Given the description of an element on the screen output the (x, y) to click on. 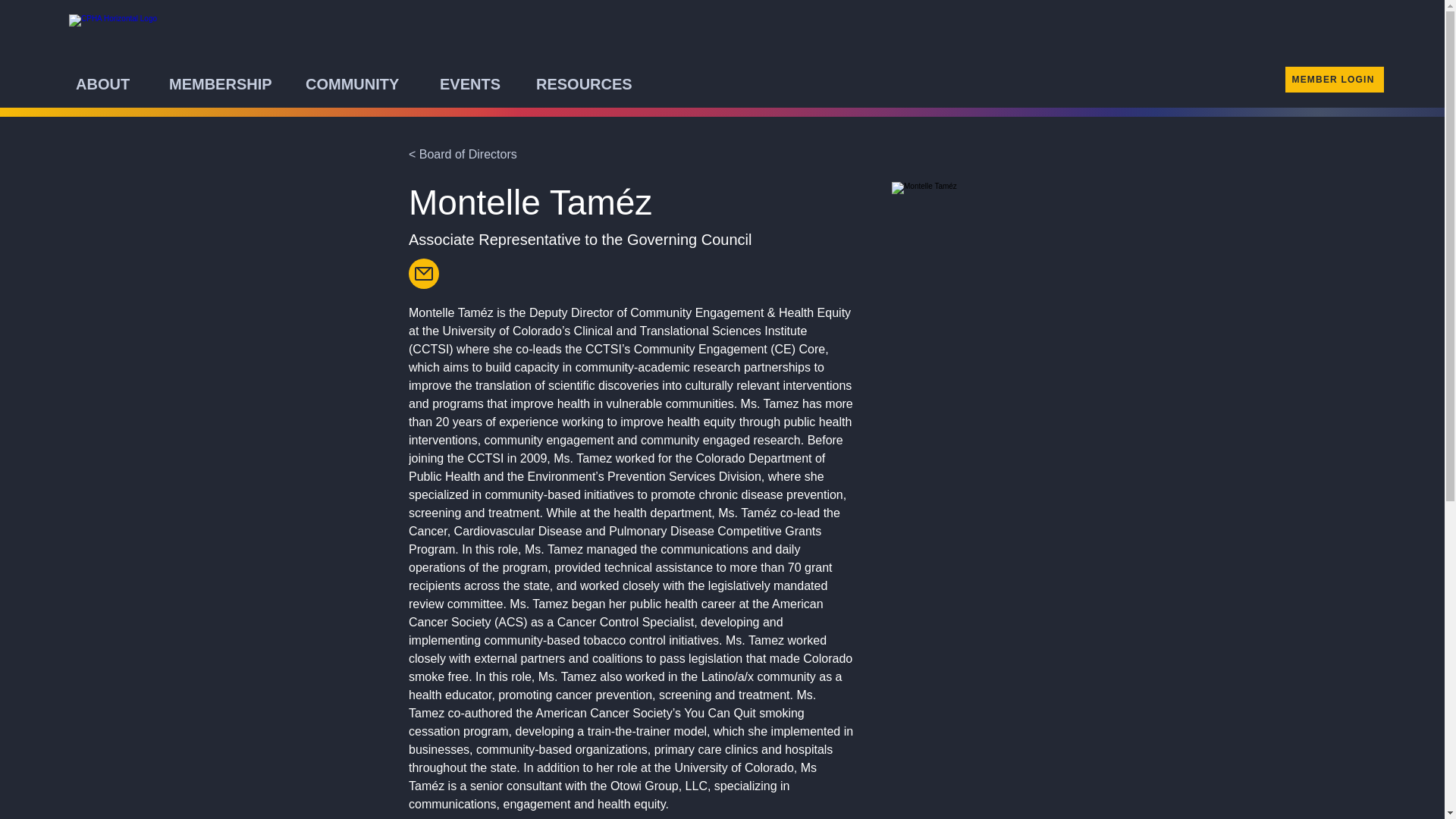
MEMBERSHIP (229, 83)
ABOUT (114, 83)
COMMUNITY (365, 83)
MEMBER LOGIN (1334, 79)
